Given the description of an element on the screen output the (x, y) to click on. 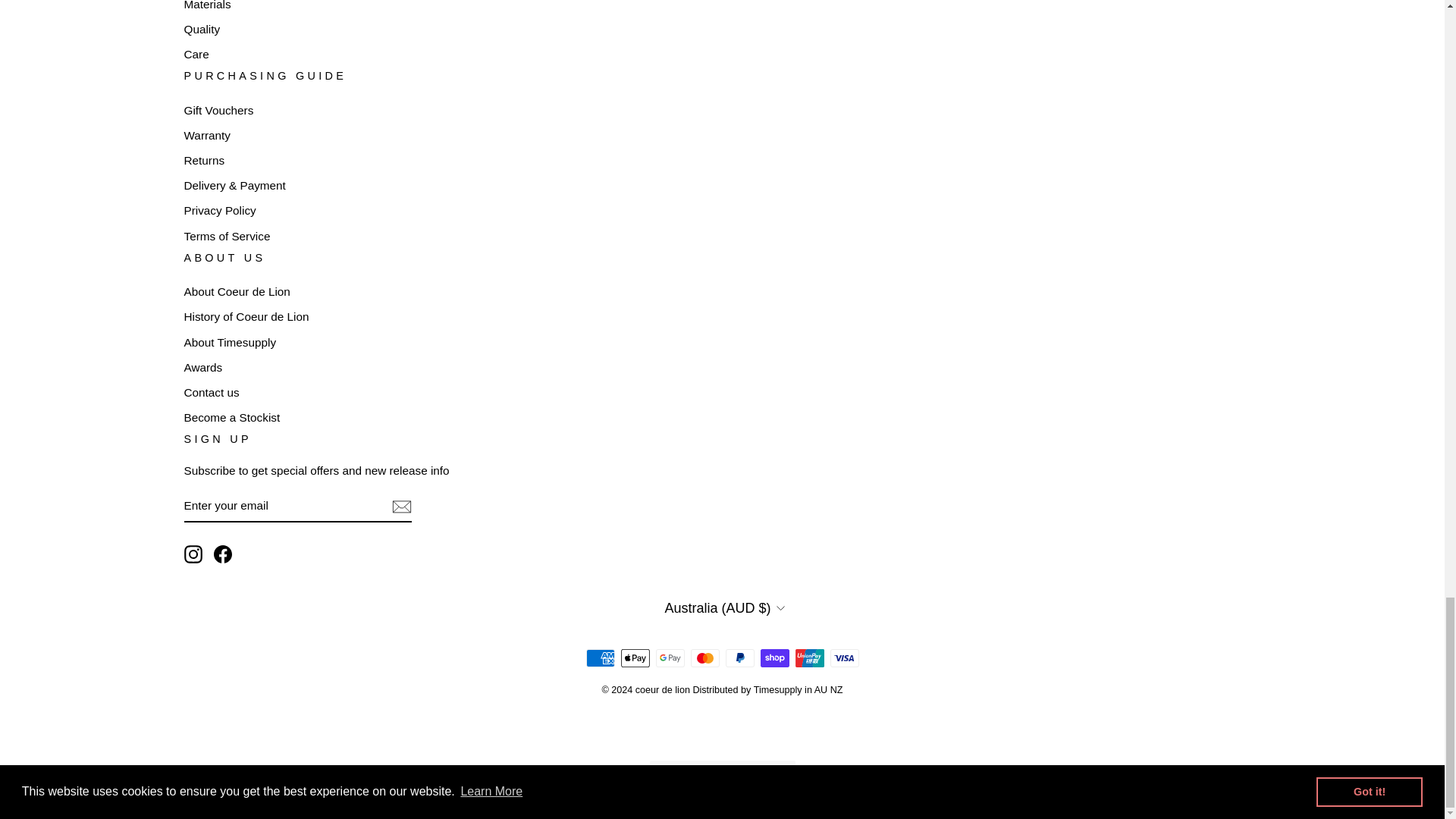
coeur de lion on Facebook (222, 554)
coeur de lion on Instagram (192, 554)
American Express (599, 658)
